Given the description of an element on the screen output the (x, y) to click on. 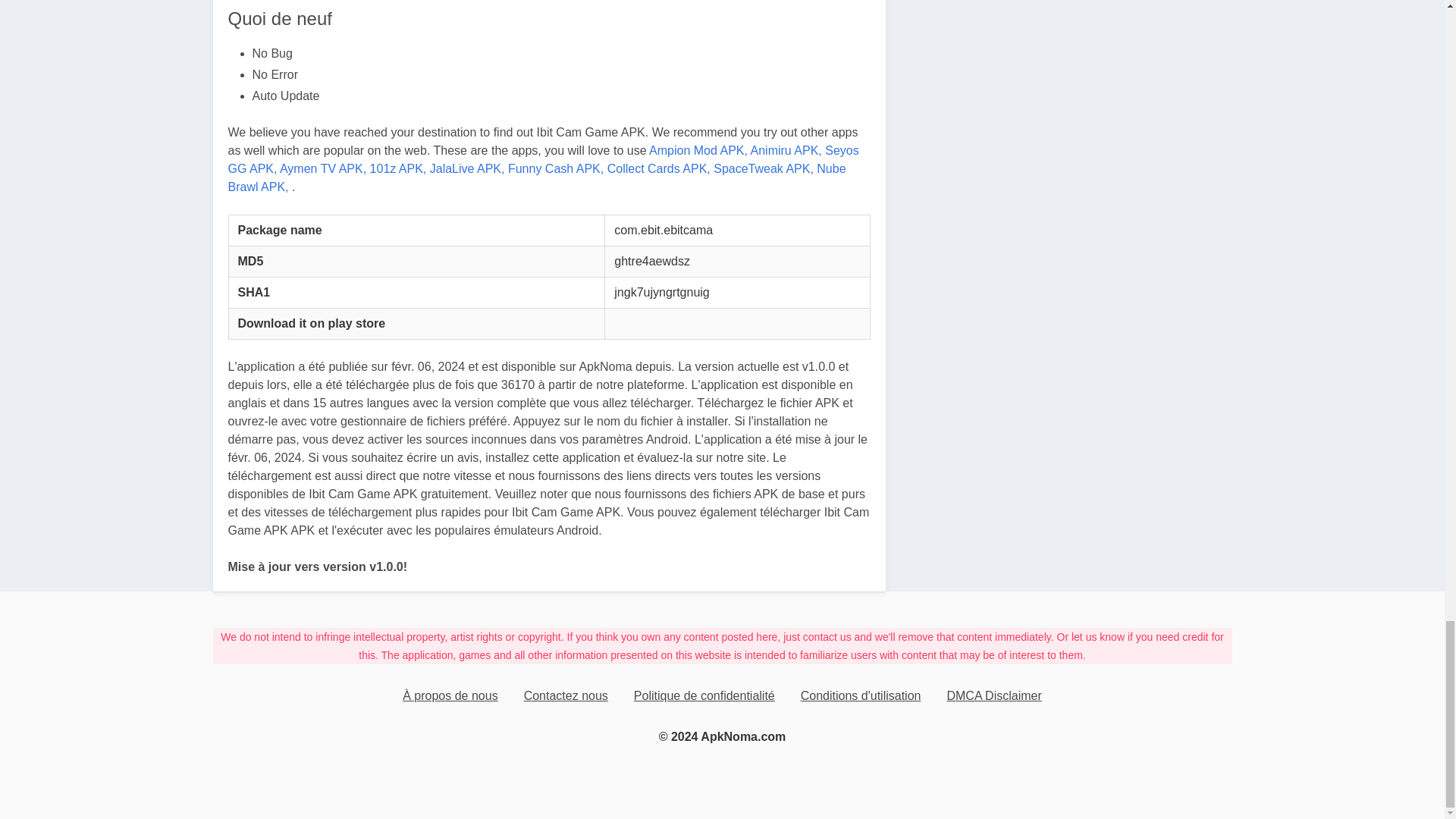
101z APK APK (397, 168)
Ampion Mod APK APK (698, 150)
Seyos GG APK APK (543, 159)
Aymen TV APK APK (322, 168)
SpaceTweak APK APK (763, 168)
JalaLive APK APK (467, 168)
Nube Brawl APK APK (536, 177)
Funny Cash APK APK (556, 168)
Animiru APK APK (786, 150)
Collect Cards APK APK (658, 168)
